Given the description of an element on the screen output the (x, y) to click on. 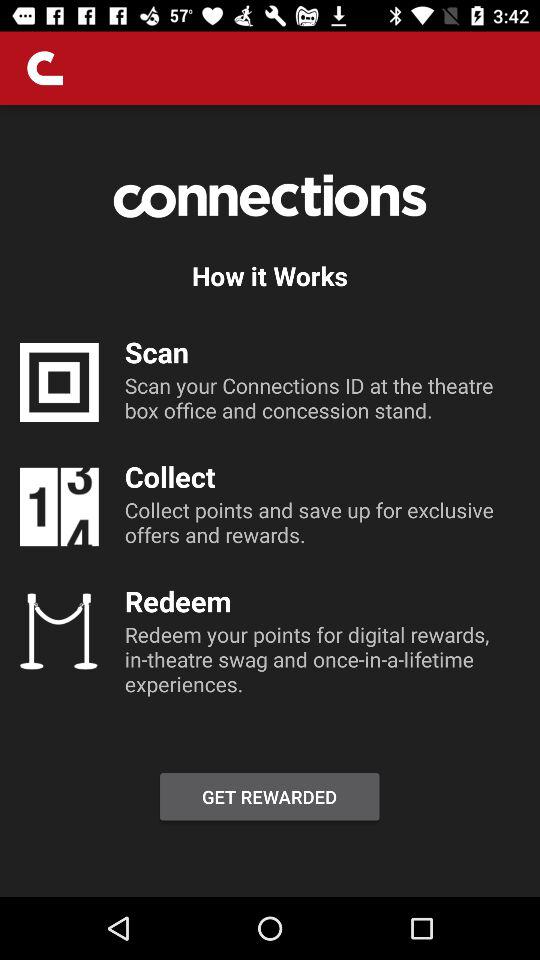
select get rewarded icon (269, 796)
